Given the description of an element on the screen output the (x, y) to click on. 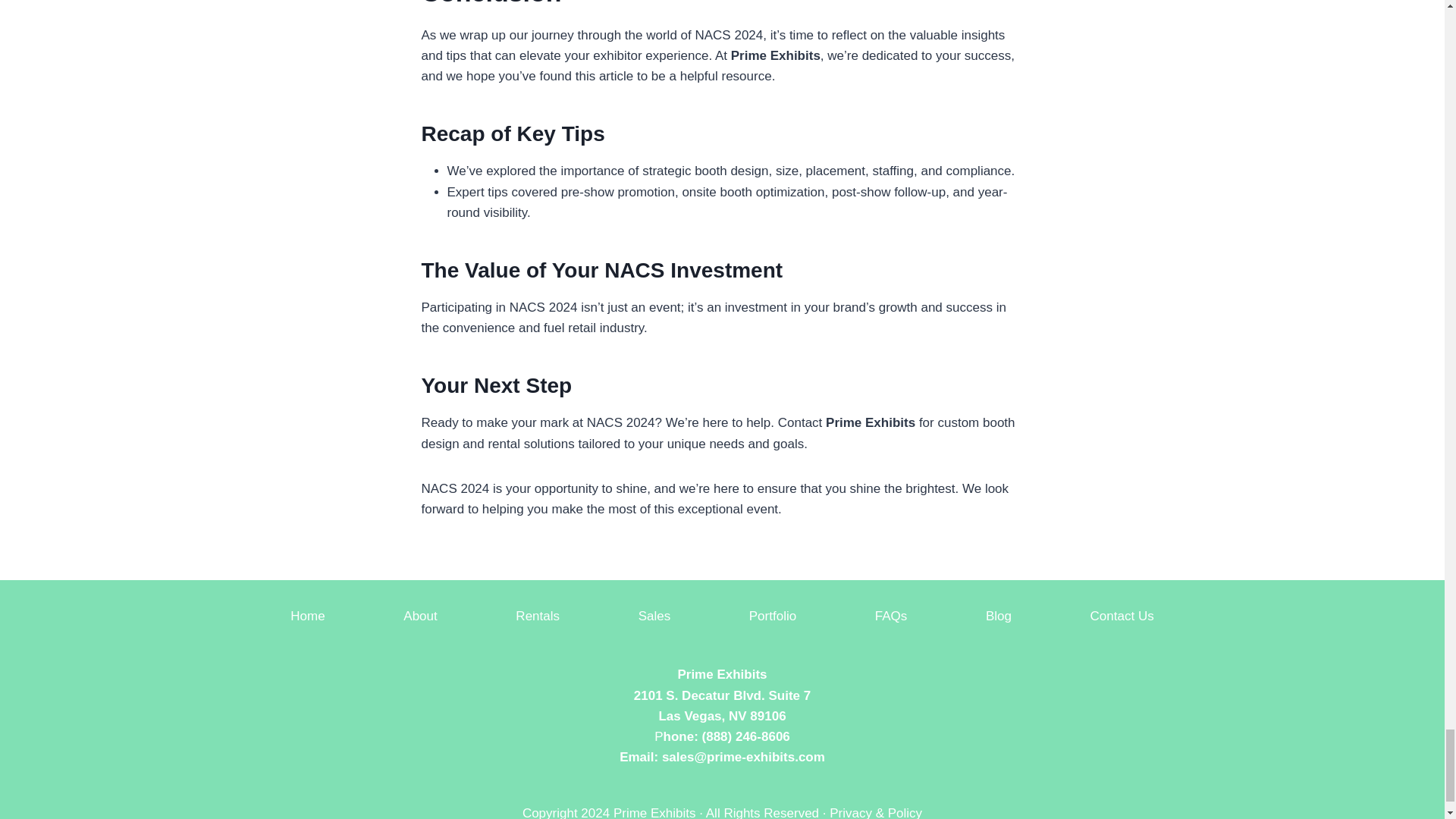
About (420, 615)
FAQs (891, 615)
Blog (998, 615)
Rentals (537, 615)
Sales (654, 615)
Portfolio (773, 615)
Home (307, 615)
